Given the description of an element on the screen output the (x, y) to click on. 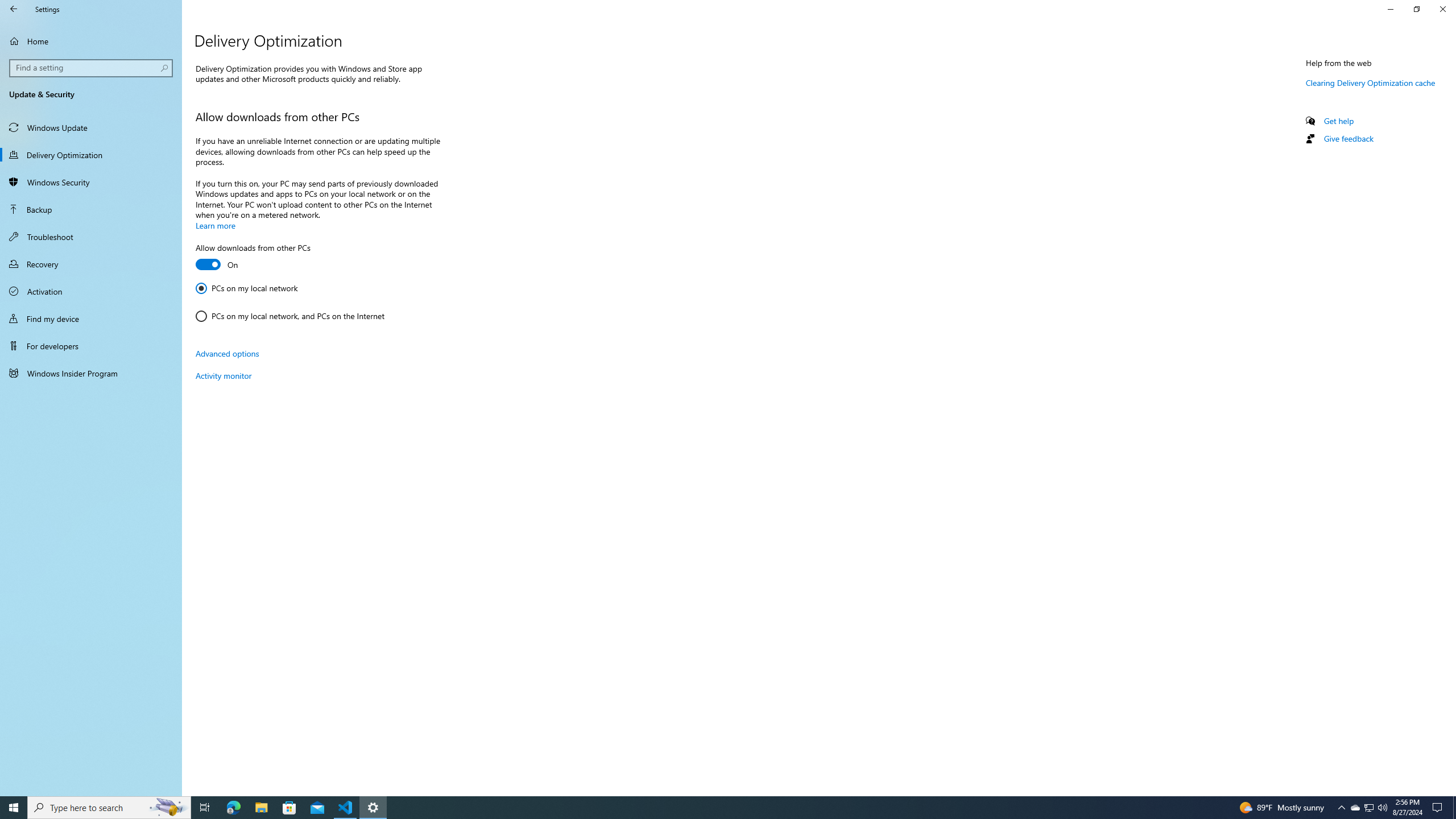
Settings - 1 running window (373, 807)
Learn more (215, 225)
Task View (204, 807)
Q2790: 100% (1382, 807)
PCs on my local network (246, 288)
Action Center, No new notifications (1439, 807)
Show desktop (1454, 807)
Visual Studio Code - 1 running window (345, 807)
Notification Chevron (1341, 807)
User Promoted Notification Area (1368, 807)
Home (91, 40)
Advanced options (227, 353)
Search box, Find a setting (91, 67)
Start (13, 807)
